Given the description of an element on the screen output the (x, y) to click on. 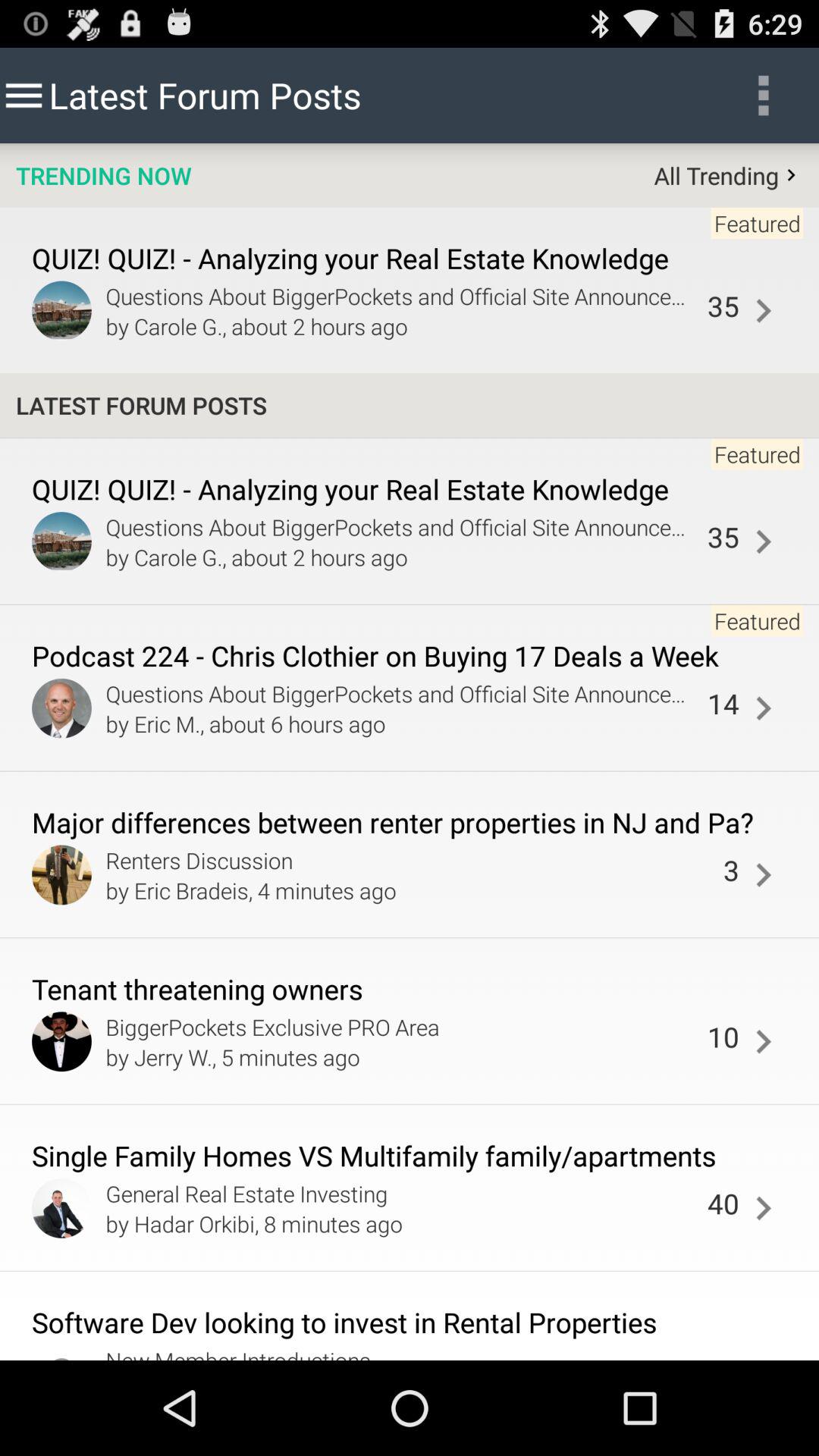
launch item next to all trending (103, 175)
